Given the description of an element on the screen output the (x, y) to click on. 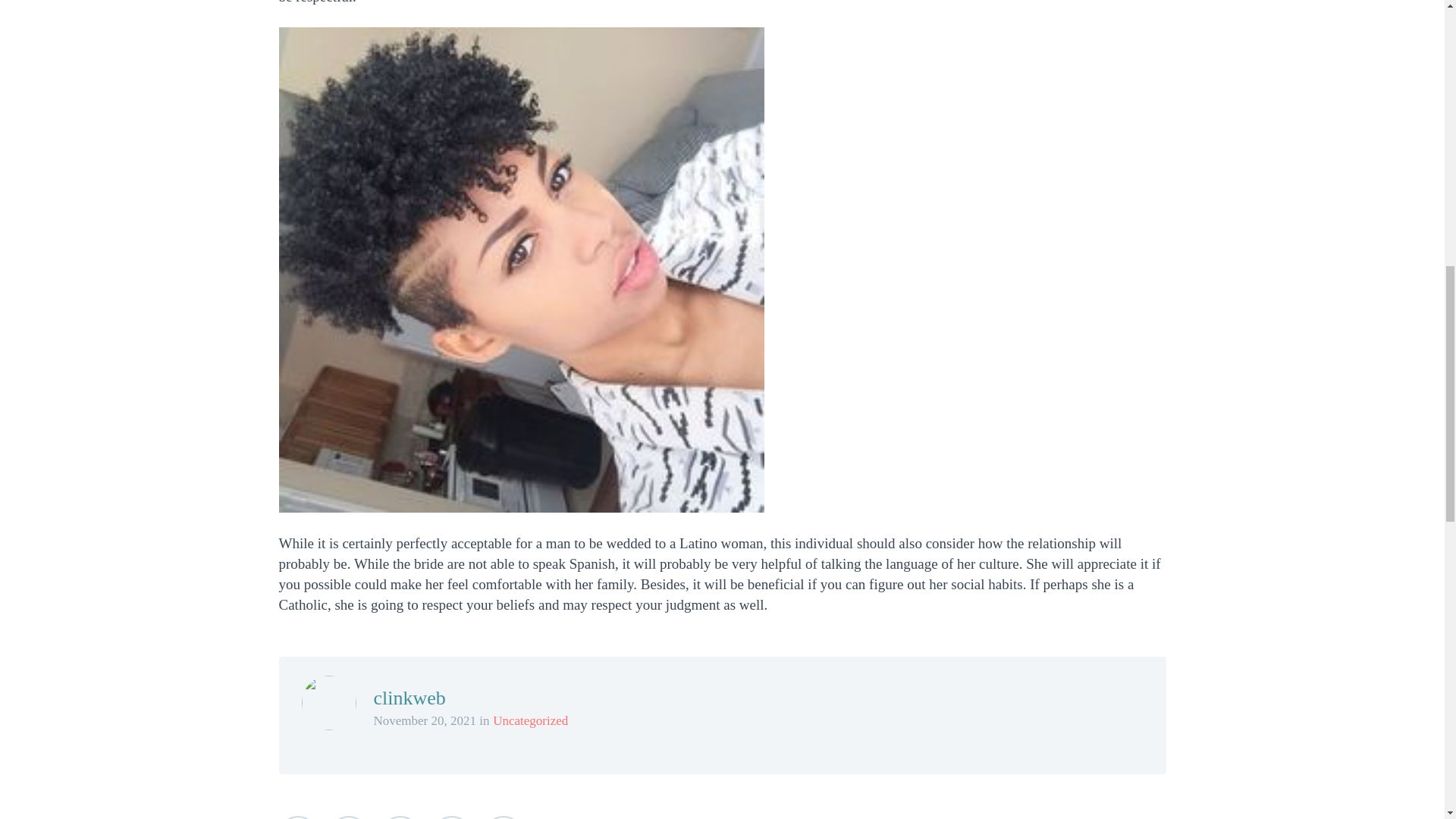
StumbleUpon (502, 817)
Facebook (349, 817)
LinkedIn (451, 817)
Google Plus (400, 817)
Uncategorized (530, 720)
Facebook (349, 817)
StumbleUpon (502, 817)
Twitter (298, 817)
LinkedIn (451, 817)
View all posts in Uncategorized (530, 720)
Google Plus (400, 817)
Twitter (298, 817)
